Given the description of an element on the screen output the (x, y) to click on. 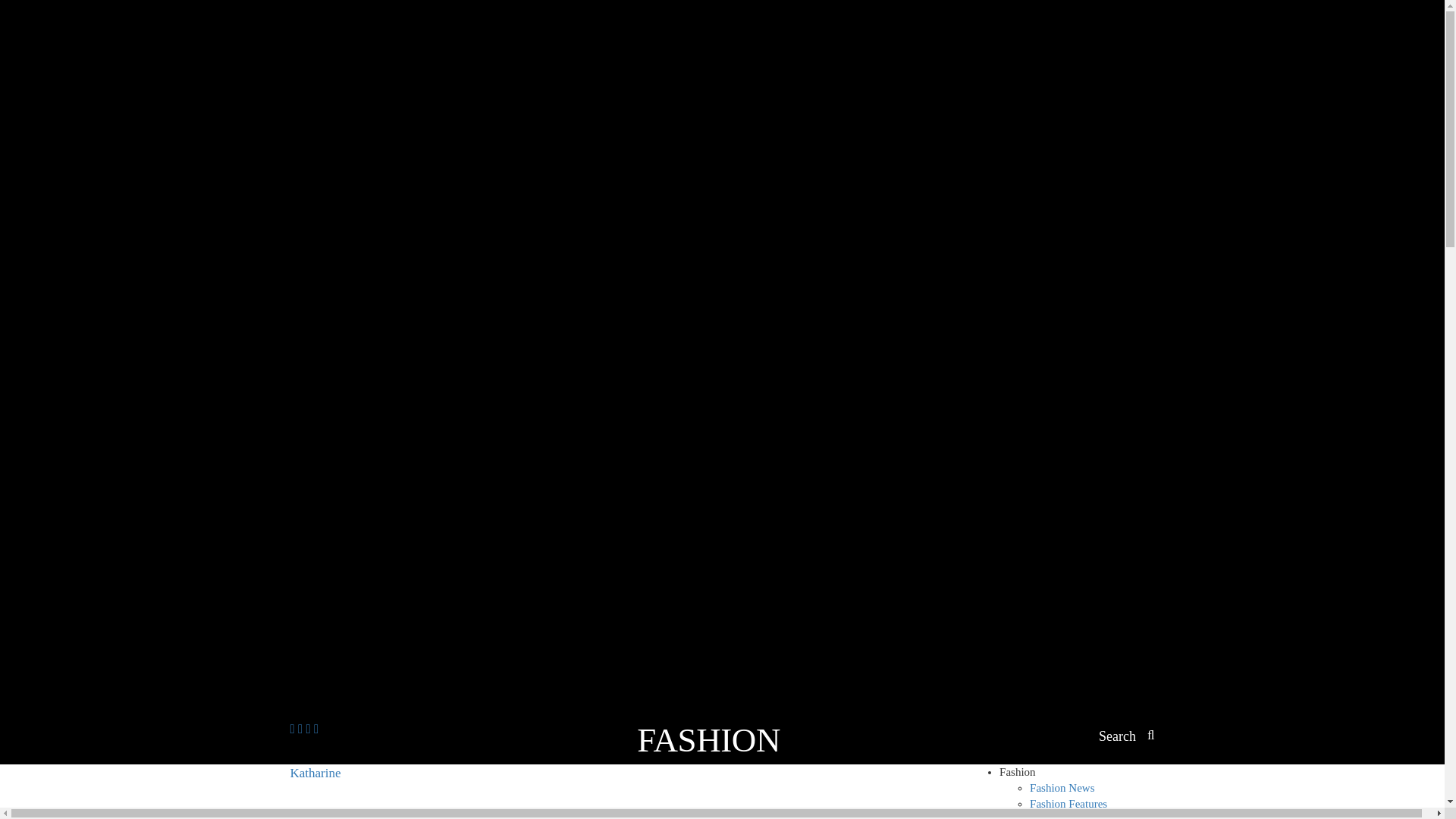
iFashion Network (342, 791)
Katharine (342, 791)
Search (1126, 737)
Fashion News (1061, 787)
Fashion Features (1067, 803)
Fashion (1016, 771)
